Given the description of an element on the screen output the (x, y) to click on. 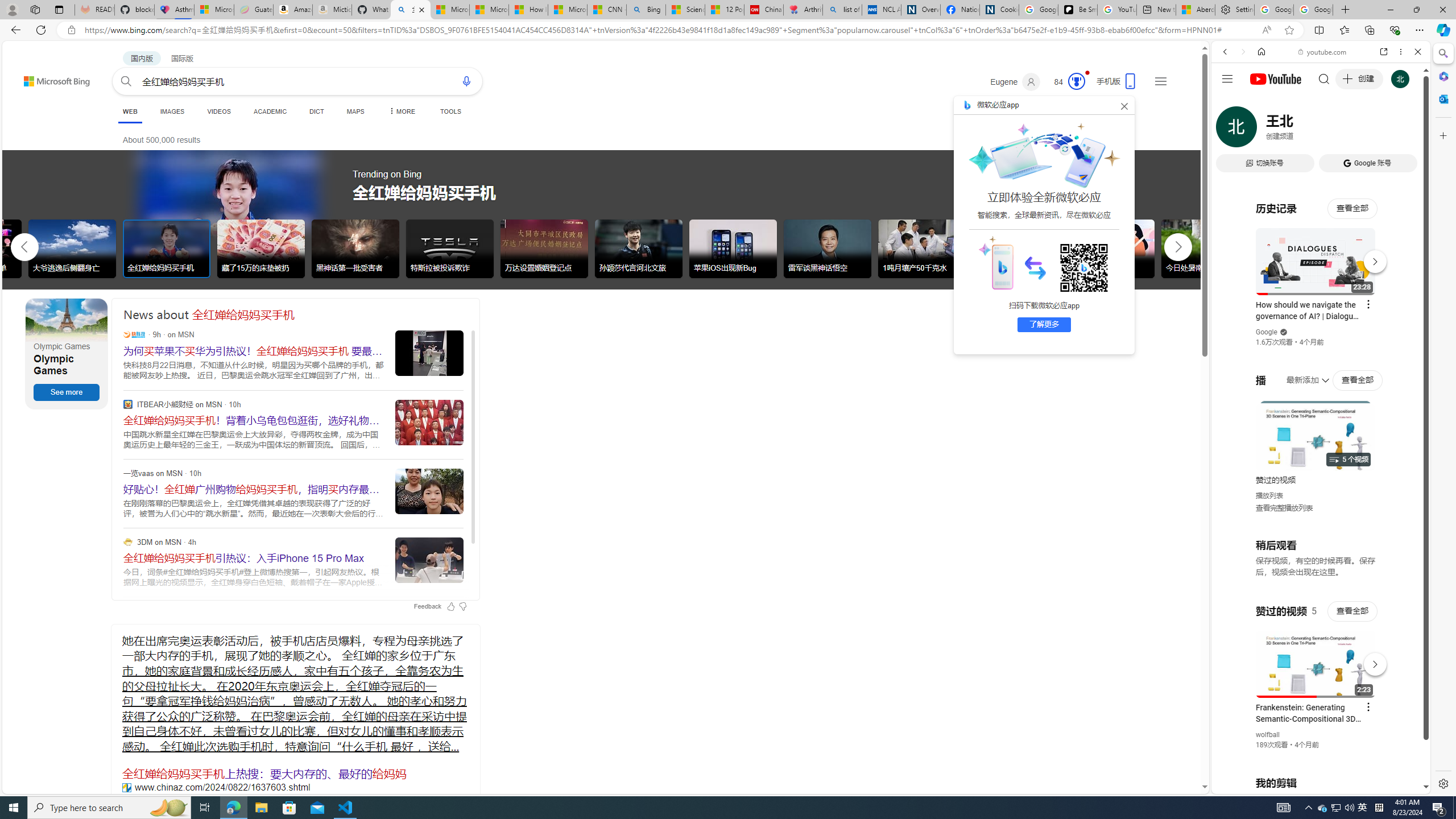
AutomationID: rh_meter (1076, 80)
MORE (400, 111)
Close tab (421, 9)
US[ju] (1249, 785)
Minimize (1390, 9)
